Given the description of an element on the screen output the (x, y) to click on. 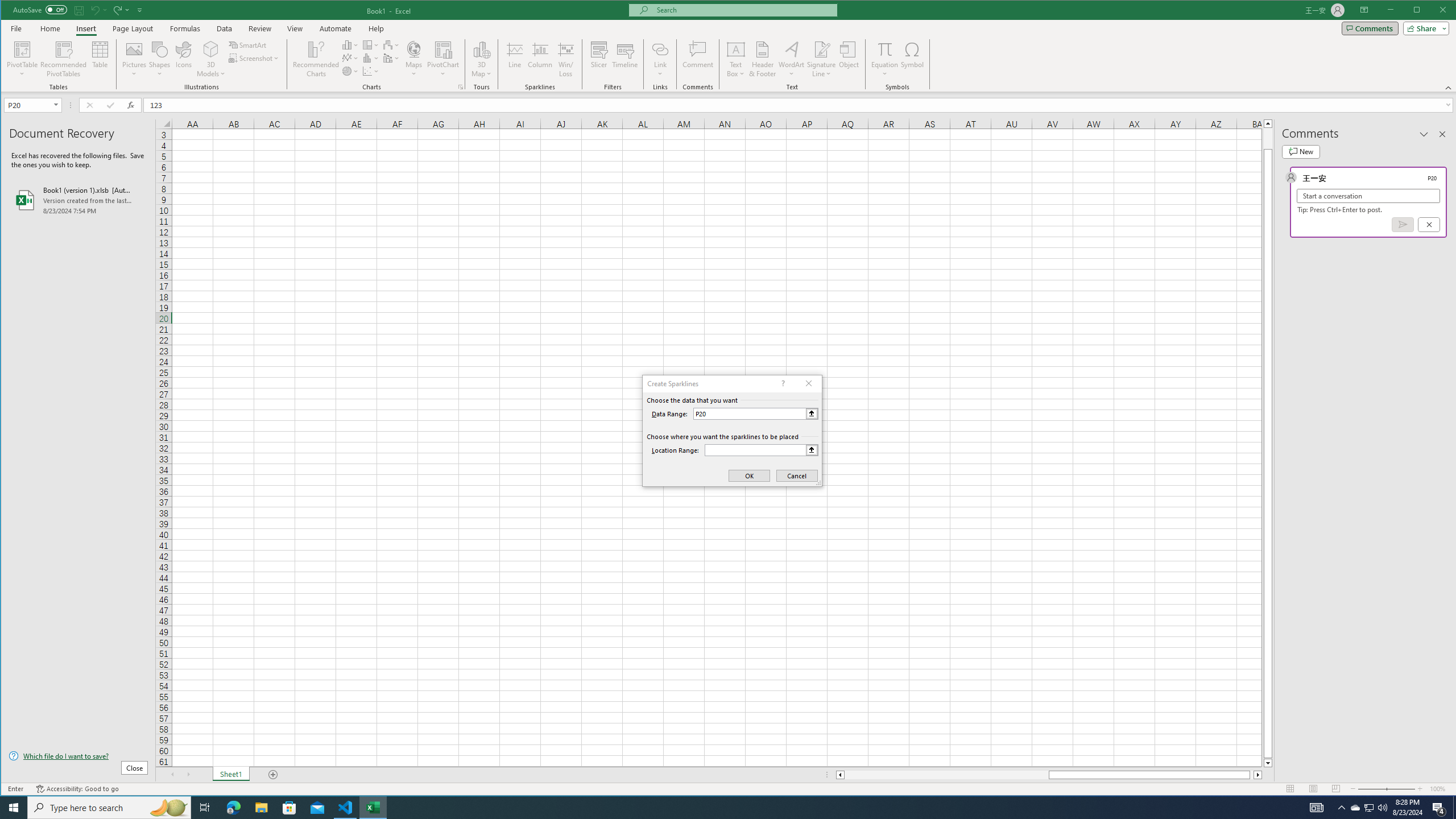
Comment (697, 59)
Recommended Charts (460, 86)
SmartArt... (248, 44)
Signature Line (821, 48)
3D Map (481, 48)
